Given the description of an element on the screen output the (x, y) to click on. 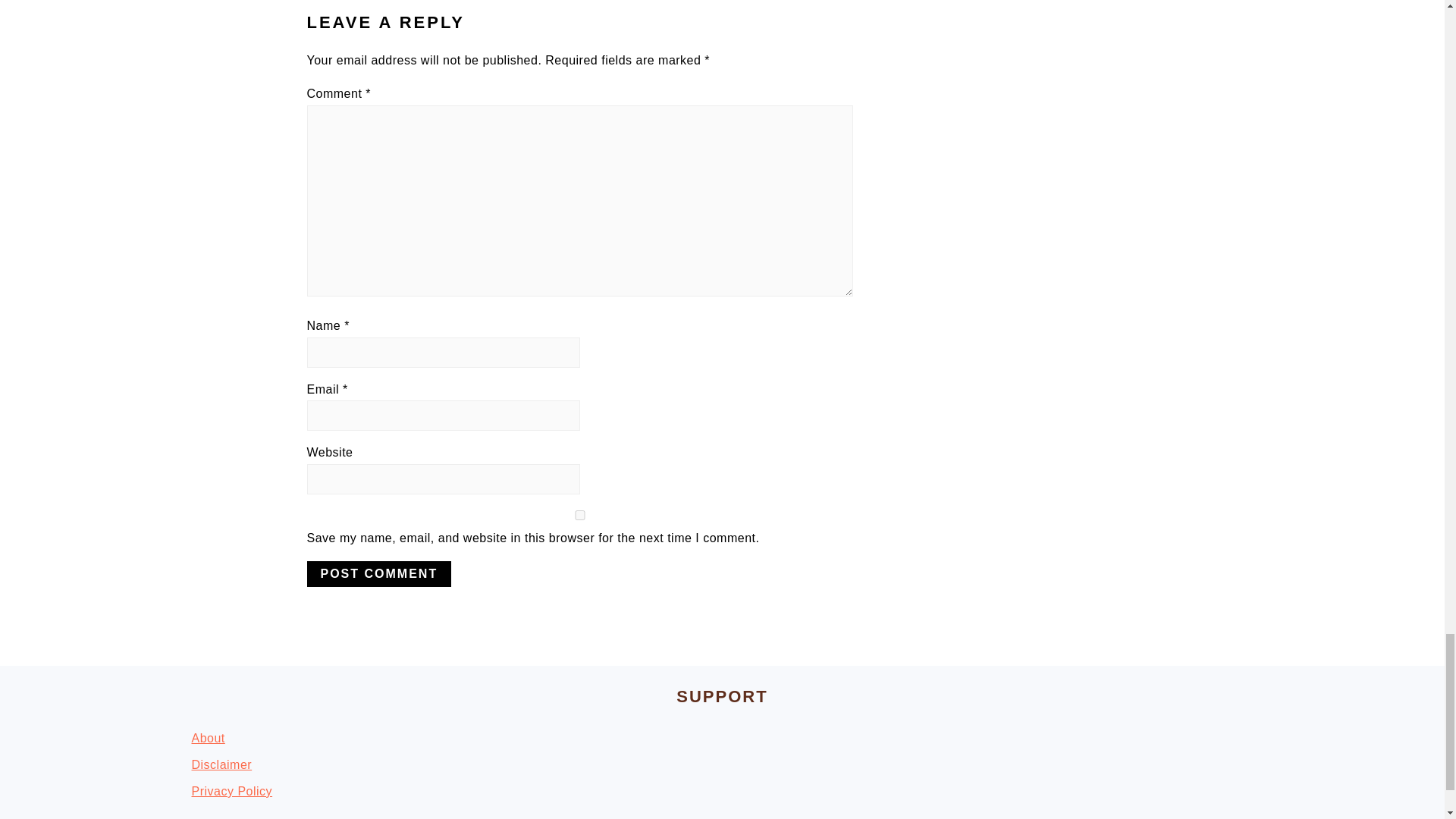
yes (578, 515)
Post Comment (378, 574)
